Given the description of an element on the screen output the (x, y) to click on. 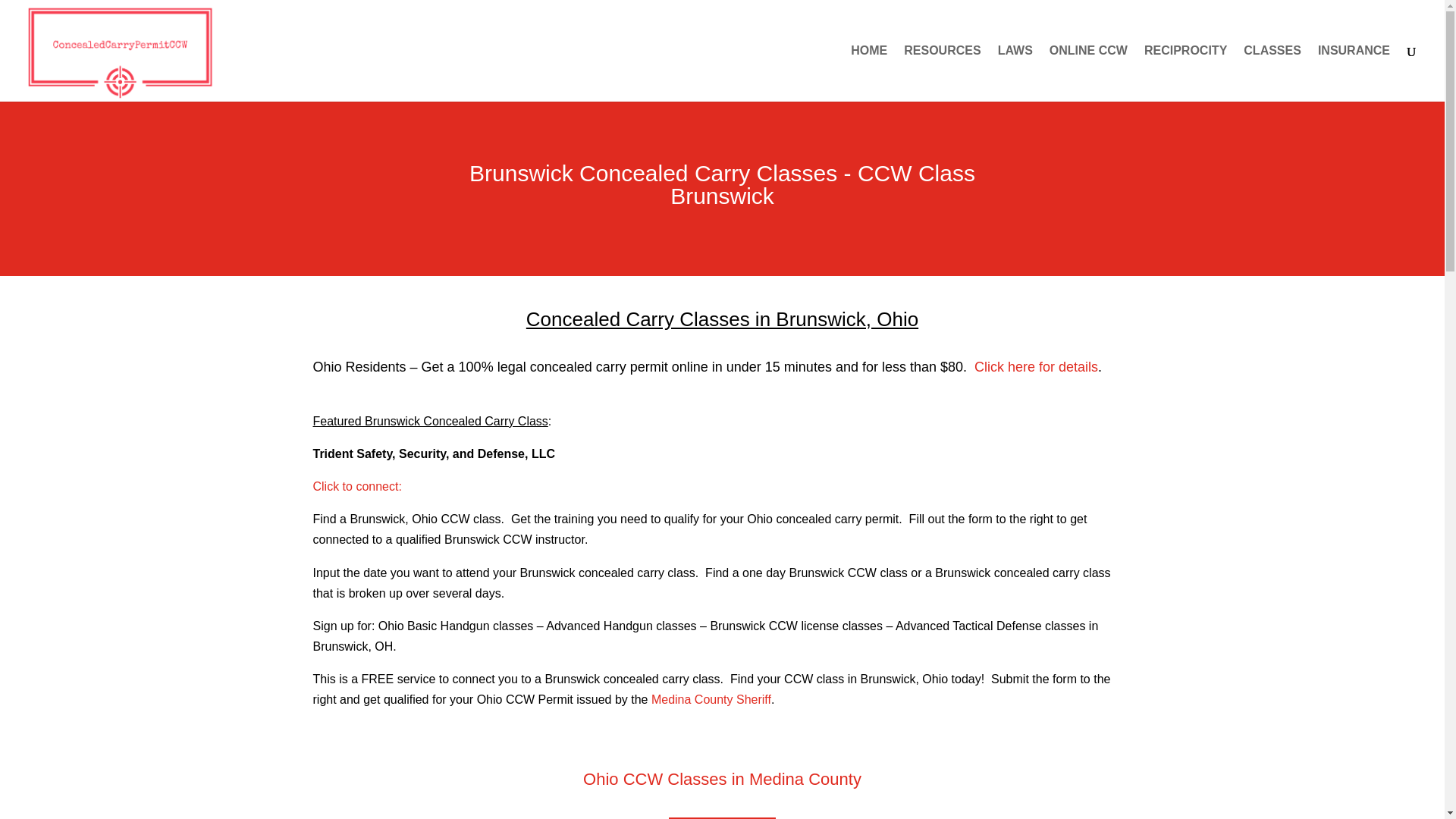
Click here for details (1035, 367)
Medina County Sheriff (710, 698)
CLASSES (1272, 73)
Click to connect: (357, 486)
RESOURCES (941, 73)
ONLINE CCW (1087, 73)
RECIPROCITY (1185, 73)
INSURANCE (1353, 73)
